Given the description of an element on the screen output the (x, y) to click on. 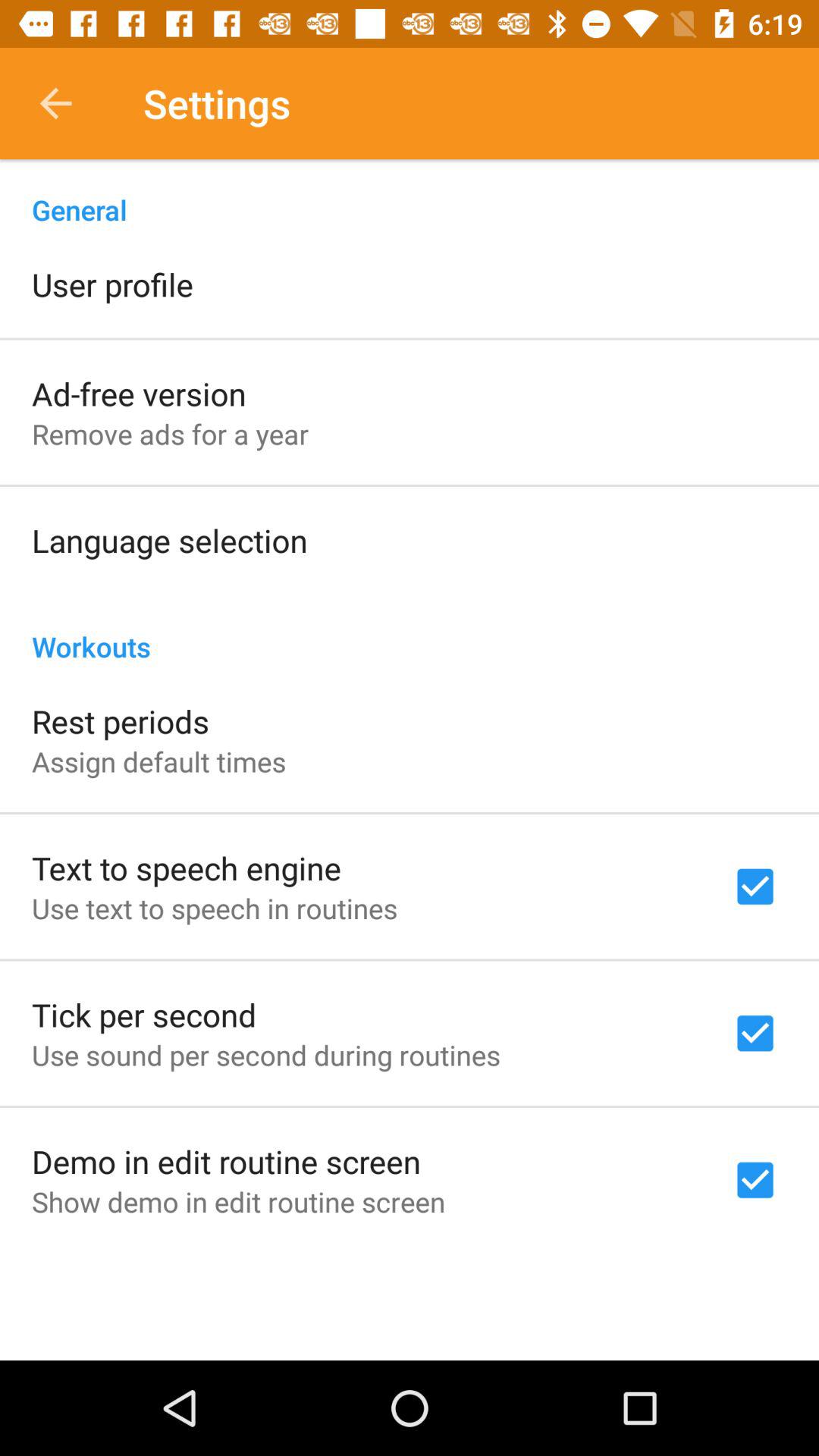
launch the remove ads for item (169, 433)
